Given the description of an element on the screen output the (x, y) to click on. 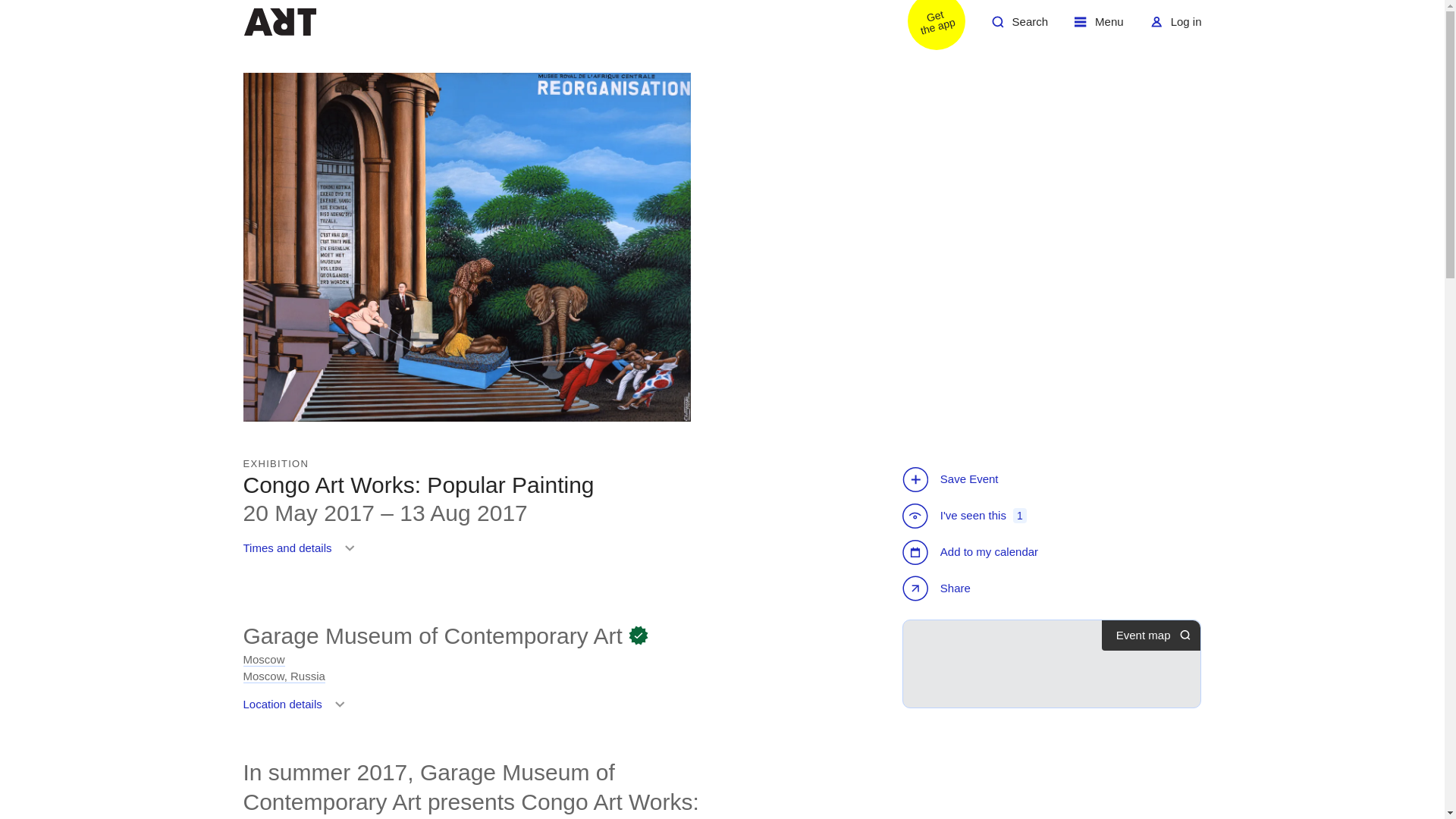
Add to my calendar (1099, 26)
Garage Museum of Contemporary Art (972, 551)
Welcome to ArtRabbit (283, 667)
Share (1176, 26)
